Given the description of an element on the screen output the (x, y) to click on. 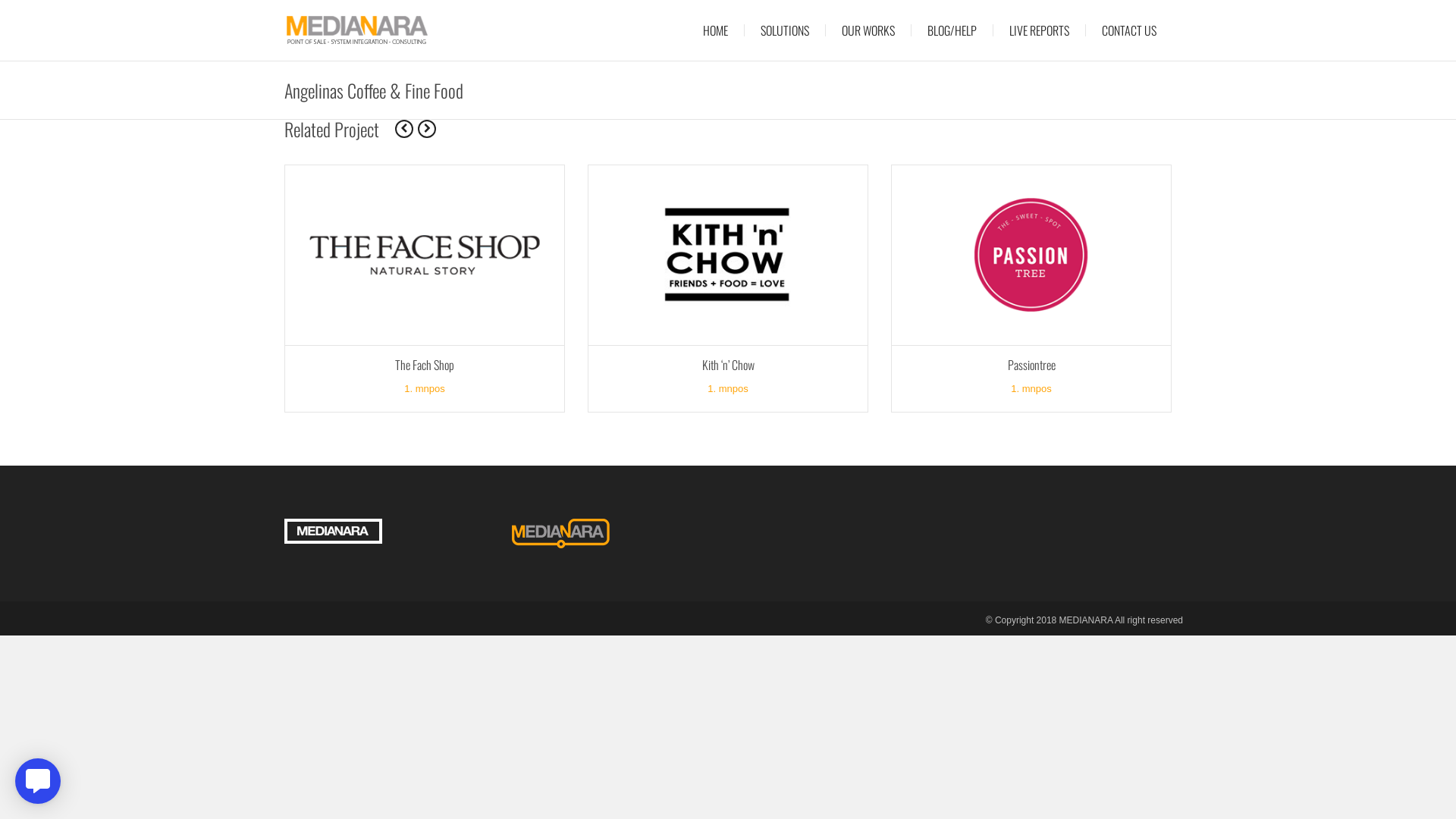
BLOG/HELP Element type: text (951, 30)
LIVE REPORTS Element type: text (1039, 30)
The Fach Shop Element type: text (424, 364)
Passiontree Element type: text (1030, 364)
HOME Element type: text (715, 30)
OUR WORKS Element type: text (868, 30)
SOLUTIONS Element type: text (784, 30)
CONTACT US Element type: text (1128, 30)
